Given the description of an element on the screen output the (x, y) to click on. 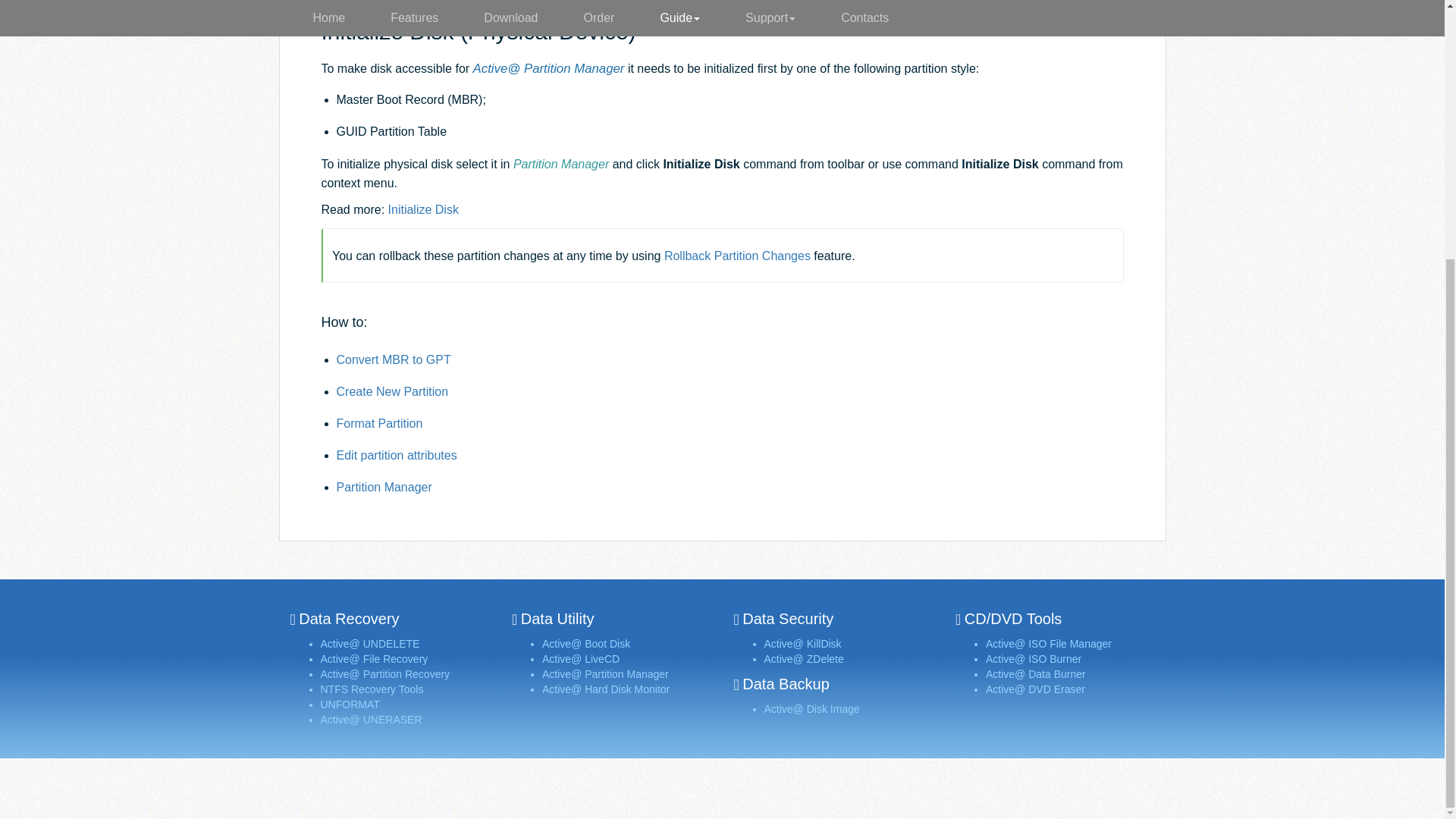
Data Security (787, 618)
Convert MBR to GPT (393, 359)
Data Recovery (348, 618)
Data Backup (785, 683)
Partition Manager (384, 486)
Format Partition (379, 422)
Edit partition attributes (396, 454)
Rollback Partition Changes (736, 255)
Create New Partition (392, 391)
Initialize Disk (423, 209)
